Given the description of an element on the screen output the (x, y) to click on. 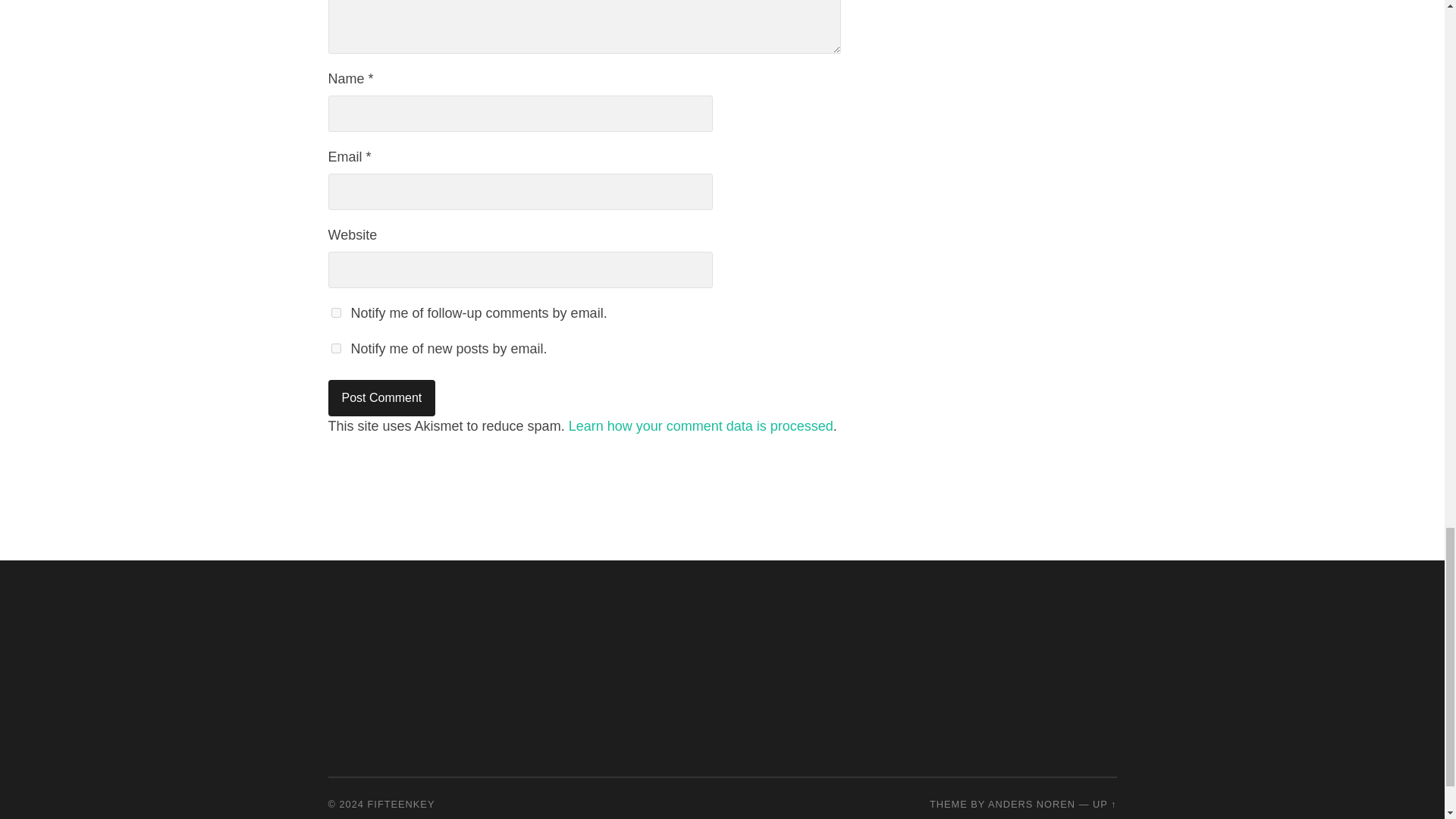
Post Comment (381, 398)
Learn how your comment data is processed (700, 426)
To the top (1104, 803)
subscribe (335, 312)
FIFTEENKEY (401, 803)
Post Comment (381, 398)
subscribe (335, 347)
ANDERS NOREN (1031, 803)
